Given the description of an element on the screen output the (x, y) to click on. 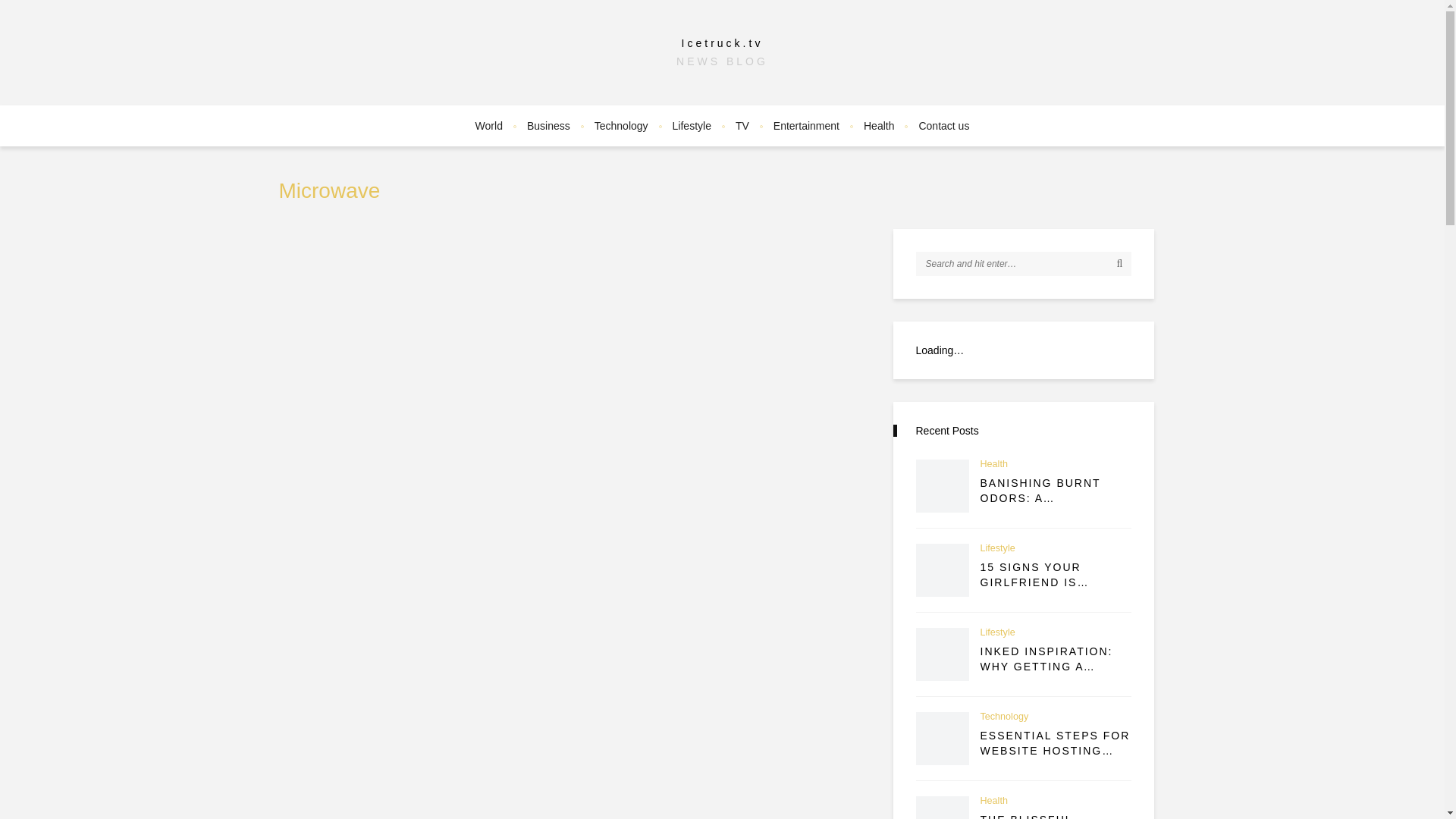
15 Signs Your Girlfriend Is Falling in Love With You (1055, 574)
Contact us (943, 125)
Business (548, 125)
15 SIGNS YOUR GIRLFRIEND IS FALLING IN LOVE WITH YOU (1055, 574)
Icetruck.tv (721, 42)
Technology (621, 125)
Health (993, 464)
Lifestyle (692, 125)
